Given the description of an element on the screen output the (x, y) to click on. 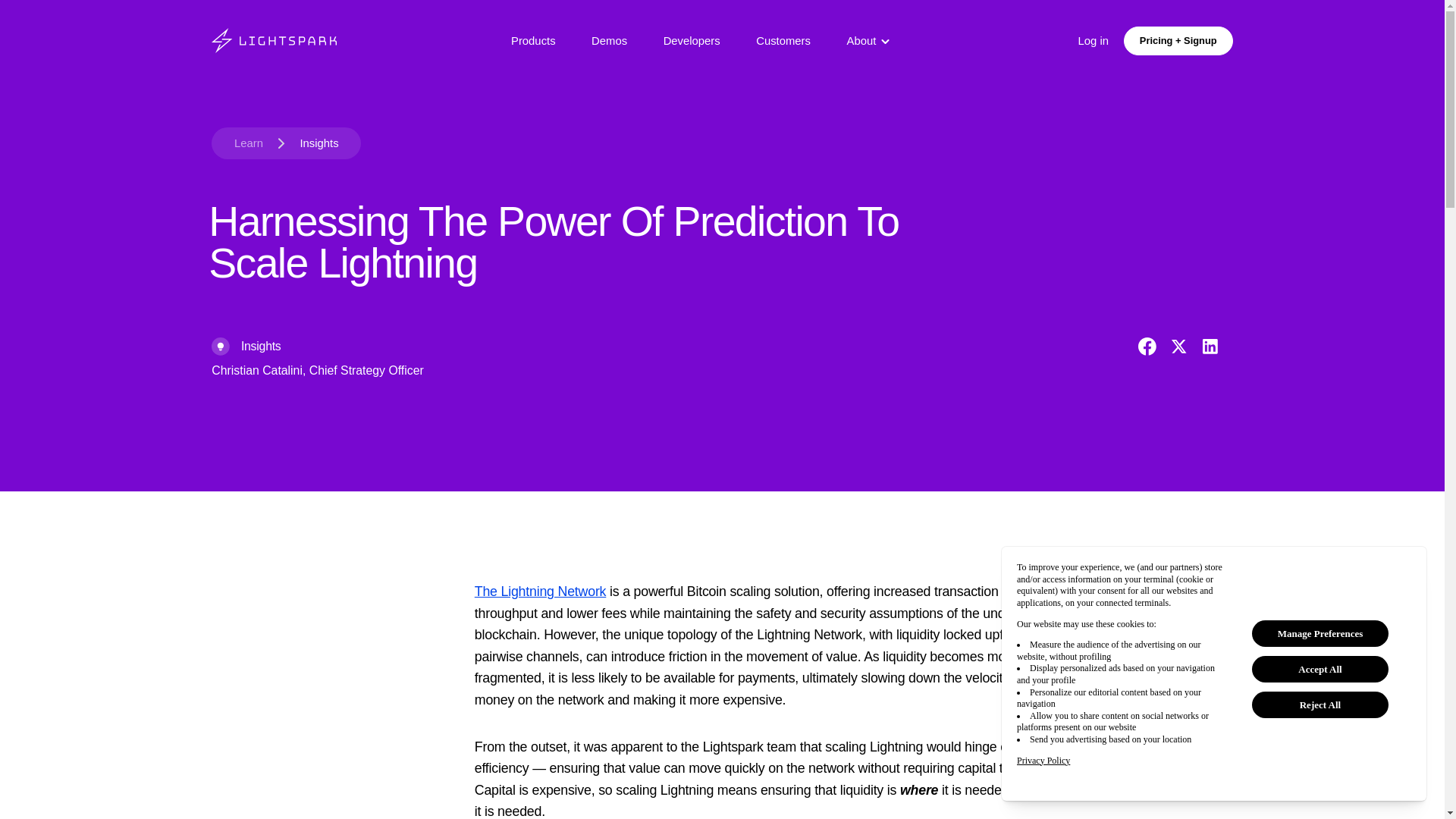
Log in (1093, 40)
Facebook (1147, 346)
Privacy Policy (1043, 761)
Twitter (1179, 346)
Lightspark (273, 40)
About (864, 40)
Manage Preferences (1320, 633)
Customers (782, 40)
Learn (248, 143)
Demos (609, 40)
